Given the description of an element on the screen output the (x, y) to click on. 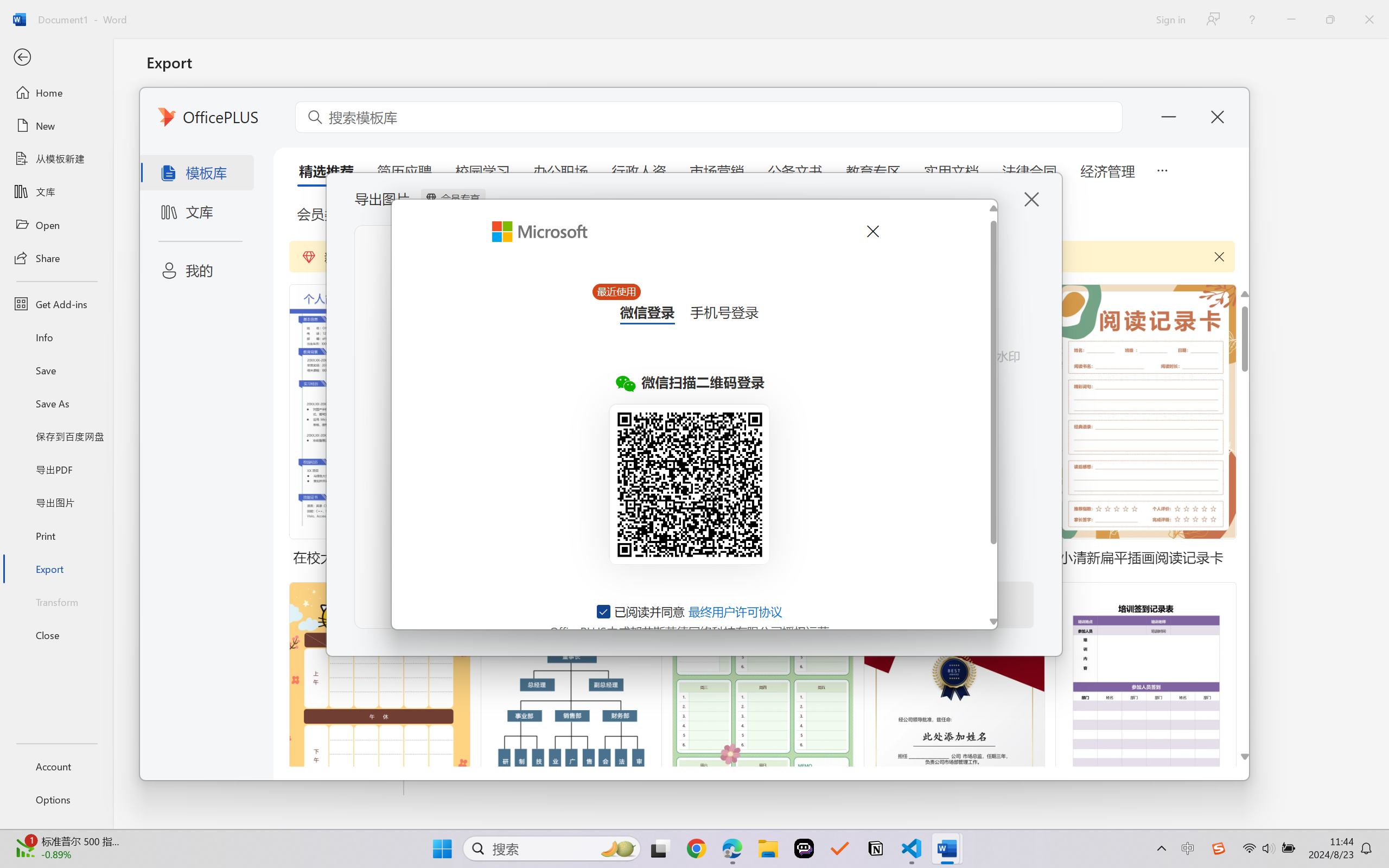
Transform (56, 601)
